Given the description of an element on the screen output the (x, y) to click on. 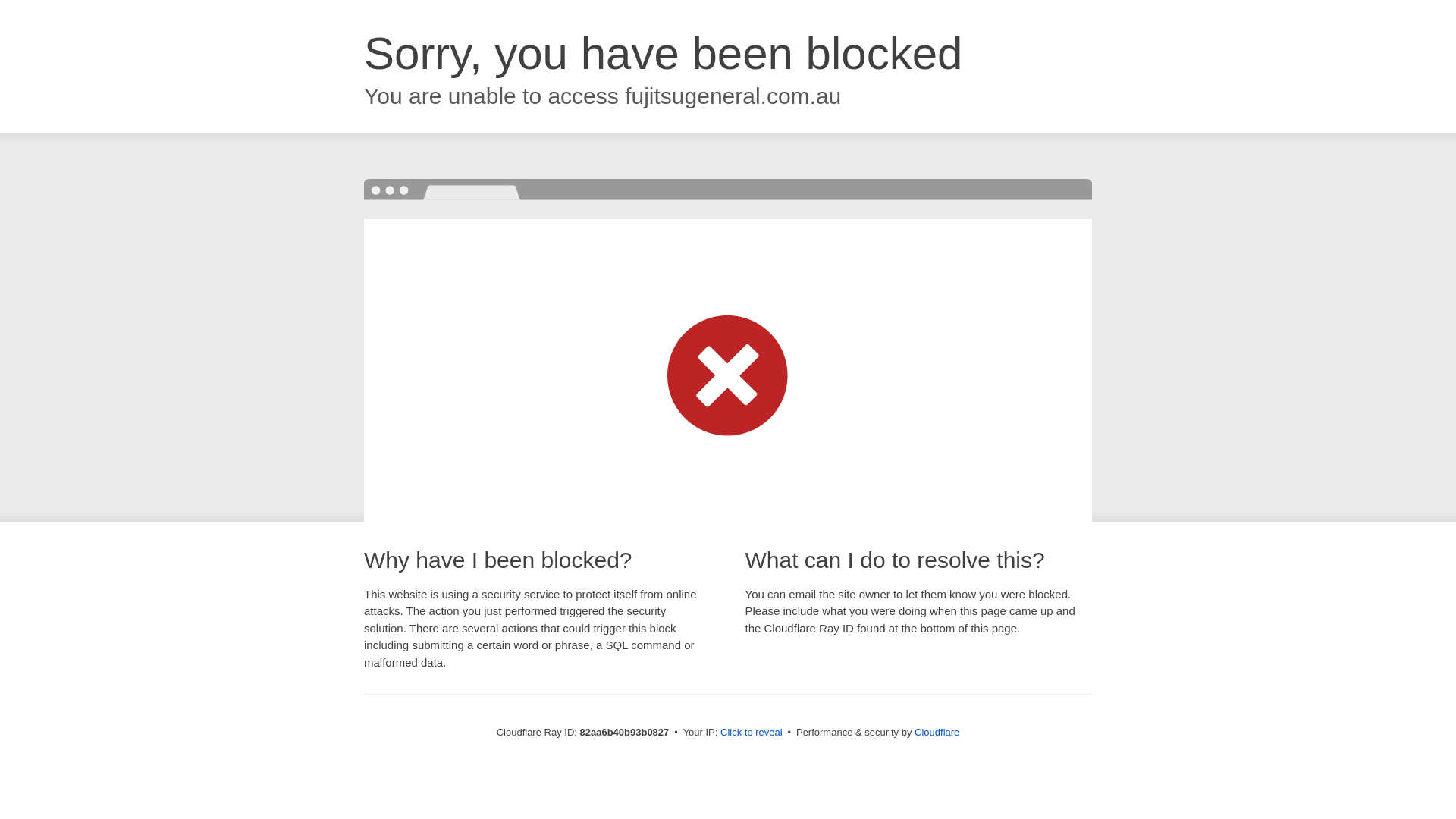
Click to reveal Element type: text (751, 732)
Cloudflare Element type: text (936, 731)
